Given the description of an element on the screen output the (x, y) to click on. 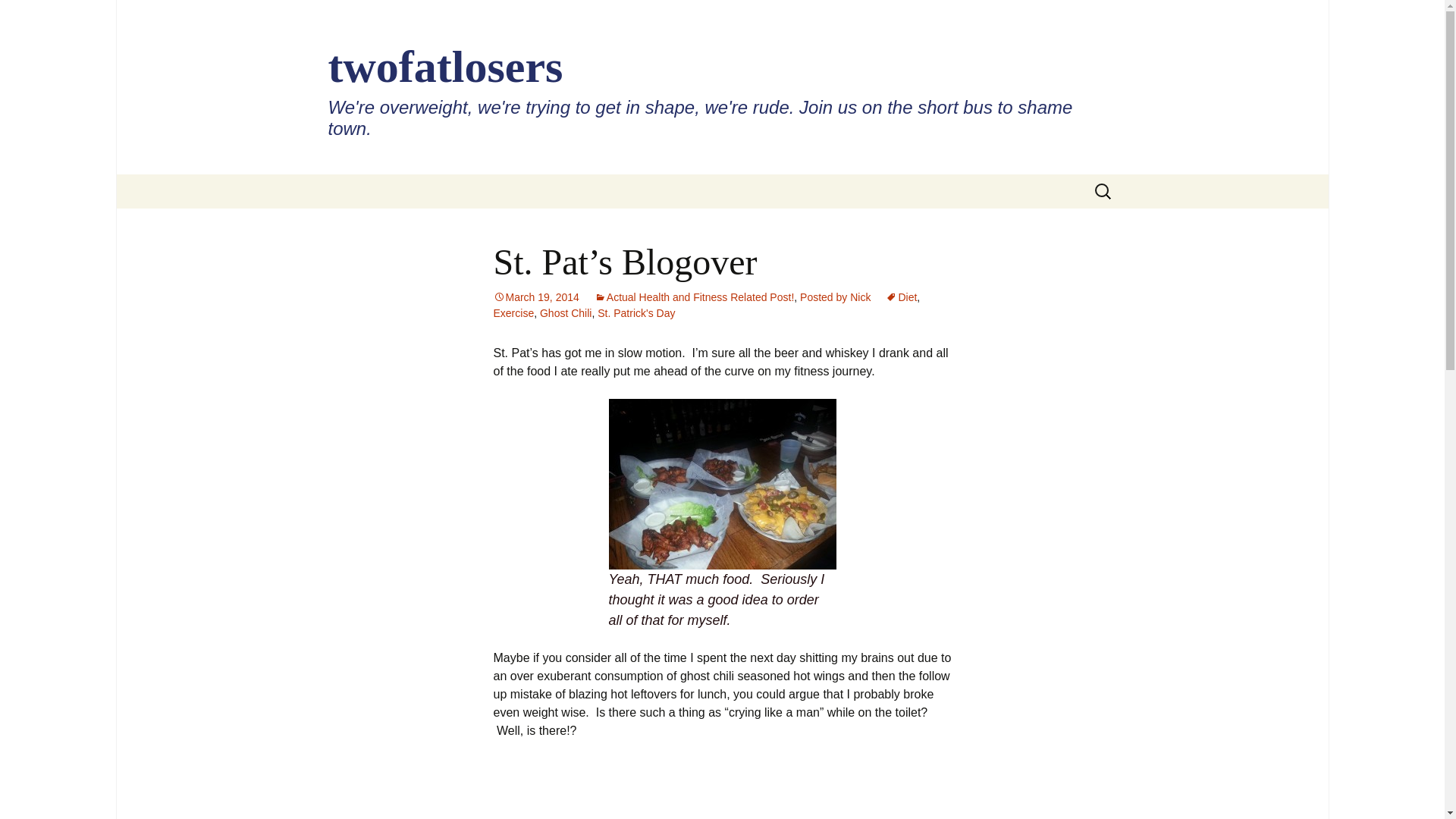
Search (34, 15)
March 19, 2014 (535, 297)
Exercise (513, 313)
Diet (901, 297)
St. Patrick's Day (635, 313)
Search (18, 15)
Ghost Chili (565, 313)
